Given the description of an element on the screen output the (x, y) to click on. 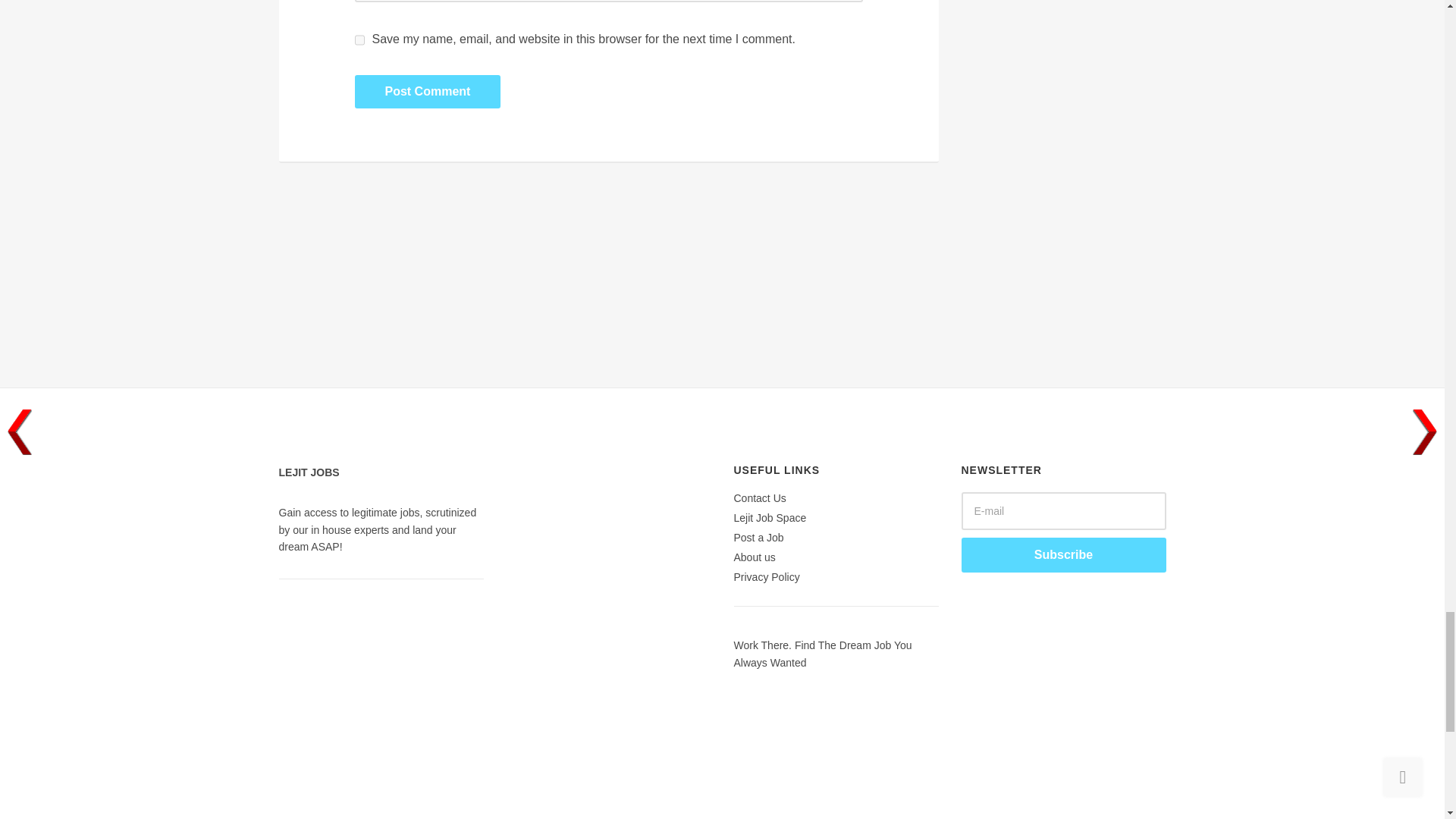
Post Comment (427, 91)
Post Comment (427, 91)
